Given the description of an element on the screen output the (x, y) to click on. 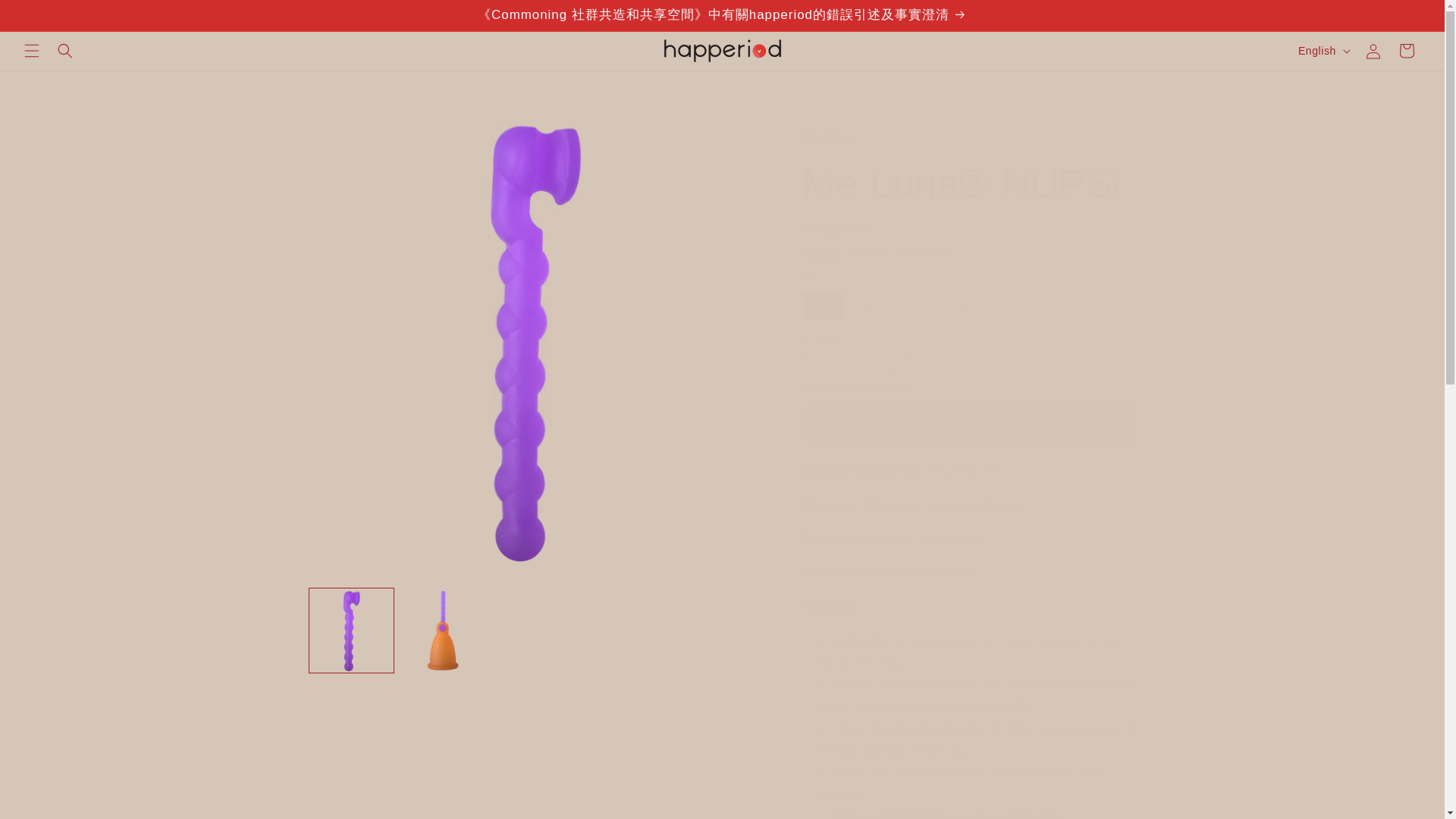
Skip to content (45, 17)
1 (856, 369)
